Given the description of an element on the screen output the (x, y) to click on. 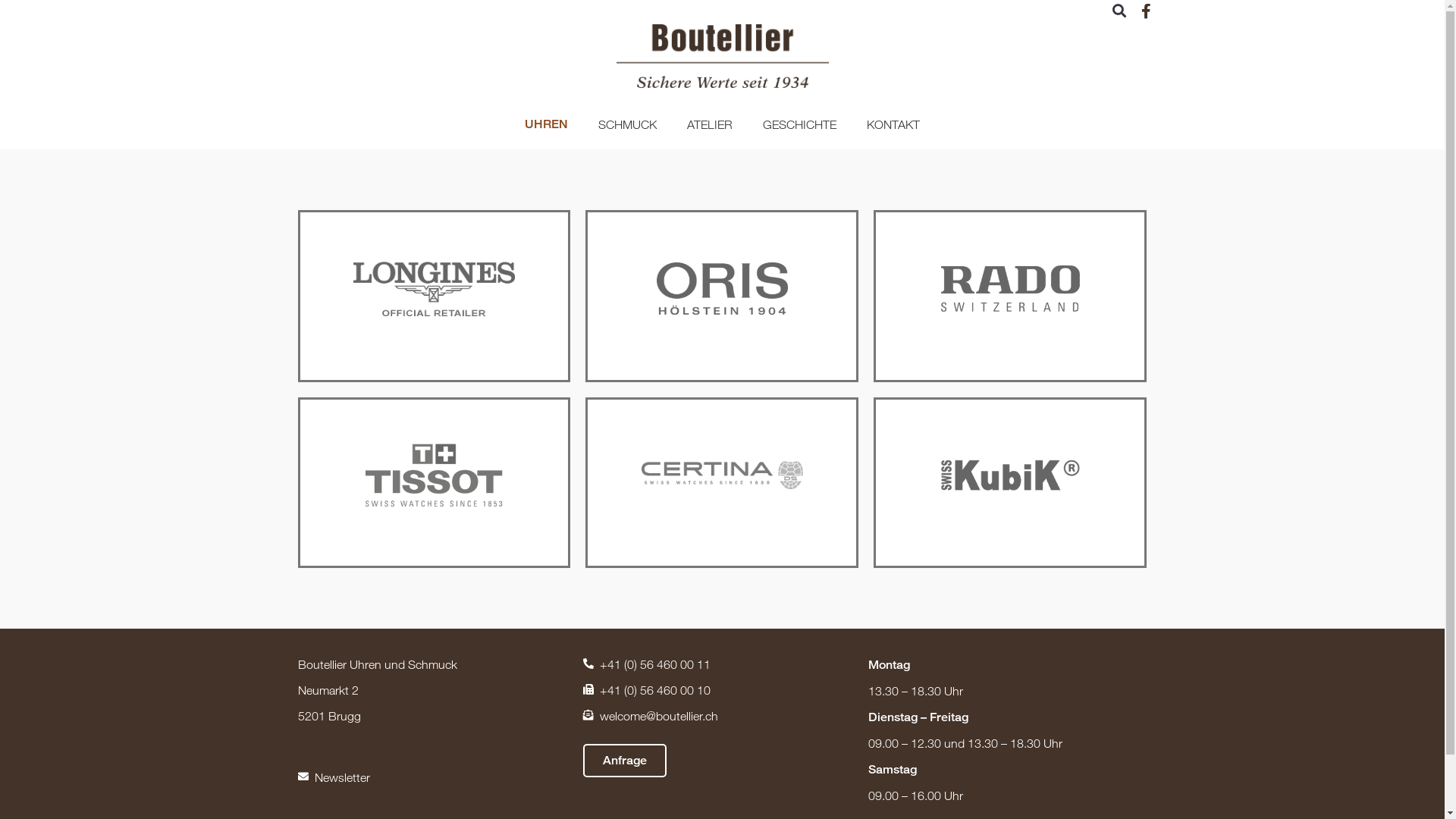
Anfrage Element type: text (624, 760)
+41 (0) 56 460 00 11 Element type: text (718, 664)
UHREN Element type: text (546, 123)
GESCHICHTE Element type: text (799, 123)
welcome@boutellier.ch Element type: text (718, 715)
SCHMUCK Element type: text (627, 123)
Newsletter Element type: text (432, 777)
KONTAKT Element type: text (893, 123)
ATELIER Element type: text (709, 123)
